Given the description of an element on the screen output the (x, y) to click on. 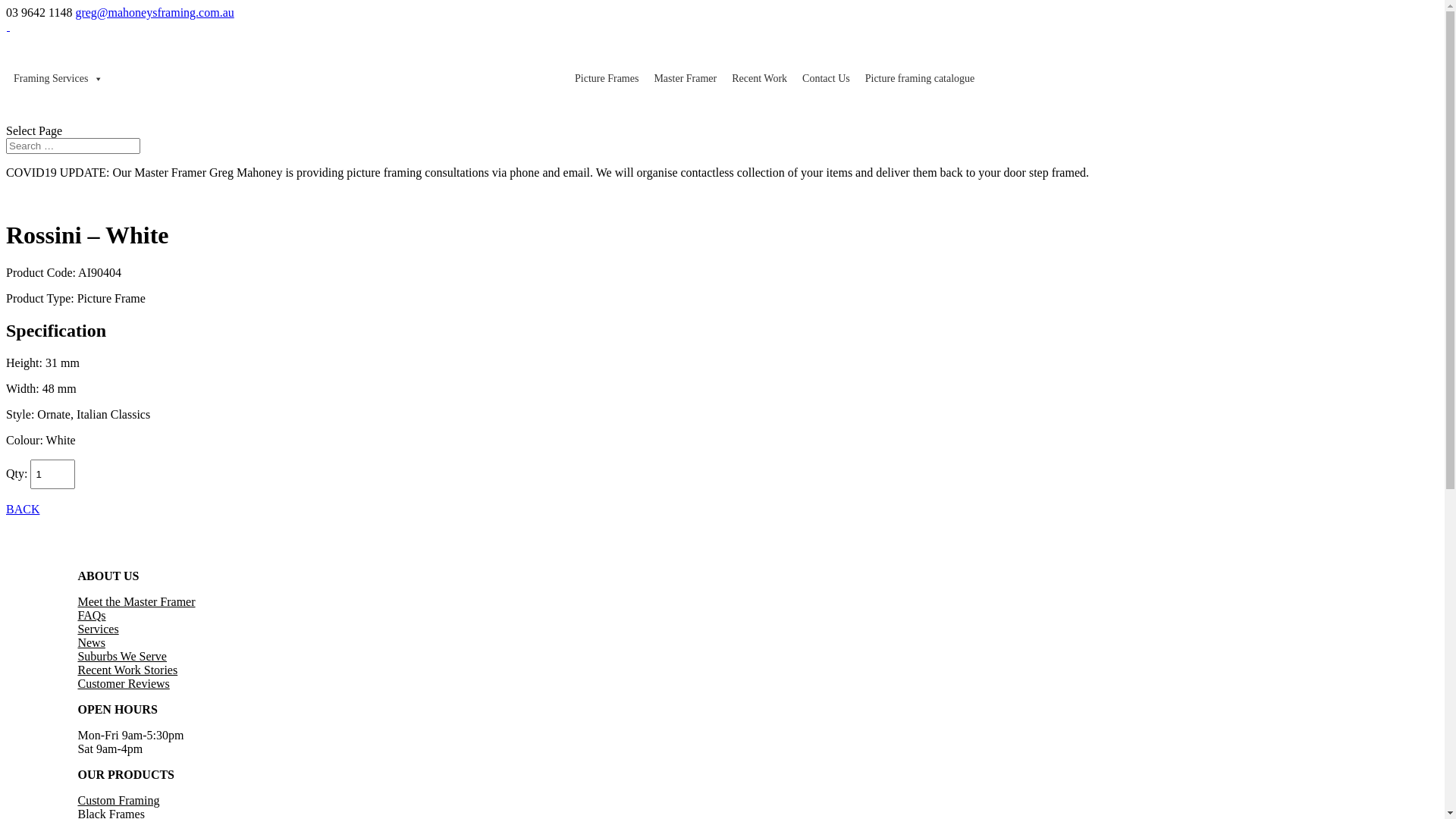
Search for: Element type: hover (73, 145)
greg@mahoneysframing.com.au Element type: text (154, 12)
News Element type: text (90, 642)
Services Element type: text (97, 628)
Framing Services Element type: text (58, 78)
Master Framer Element type: text (685, 78)
Recent Work Element type: text (759, 78)
+Add To Wish List Element type: text (164, 473)
Get A Quote Now Element type: text (326, 473)
Meet the Master Framer Element type: text (135, 601)
Customer Reviews Element type: text (123, 683)
FAQs Element type: text (91, 614)
Suburbs We Serve Element type: text (121, 655)
BACK Element type: text (22, 508)
Contact Us Element type: text (825, 78)
Picture framing catalogue Element type: text (919, 78)
Custom Framing Element type: text (118, 799)
Picture Frames Element type: text (606, 78)
Recent Work Stories Element type: text (127, 669)
